Given the description of an element on the screen output the (x, y) to click on. 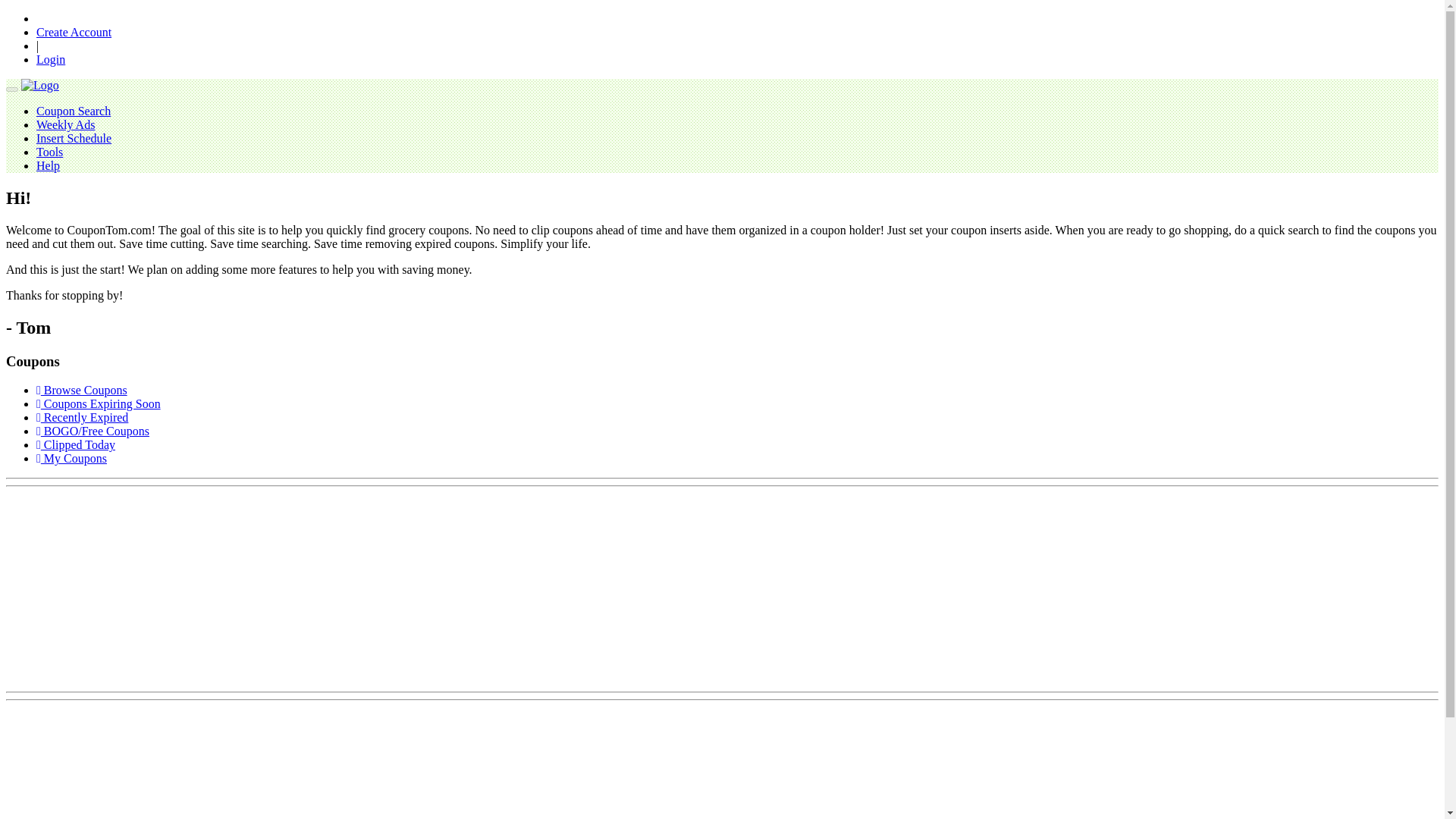
Advertisement (118, 587)
My Coupons (71, 458)
Coupon Search (73, 110)
Browse Coupons (82, 390)
Clipped Today (75, 444)
Insert Schedule (74, 137)
Recently Expired (82, 417)
Coupons Expiring Soon (98, 403)
Login (50, 59)
Create Account (74, 31)
Help (47, 164)
Tools (49, 151)
Weekly Ads (65, 124)
